Given the description of an element on the screen output the (x, y) to click on. 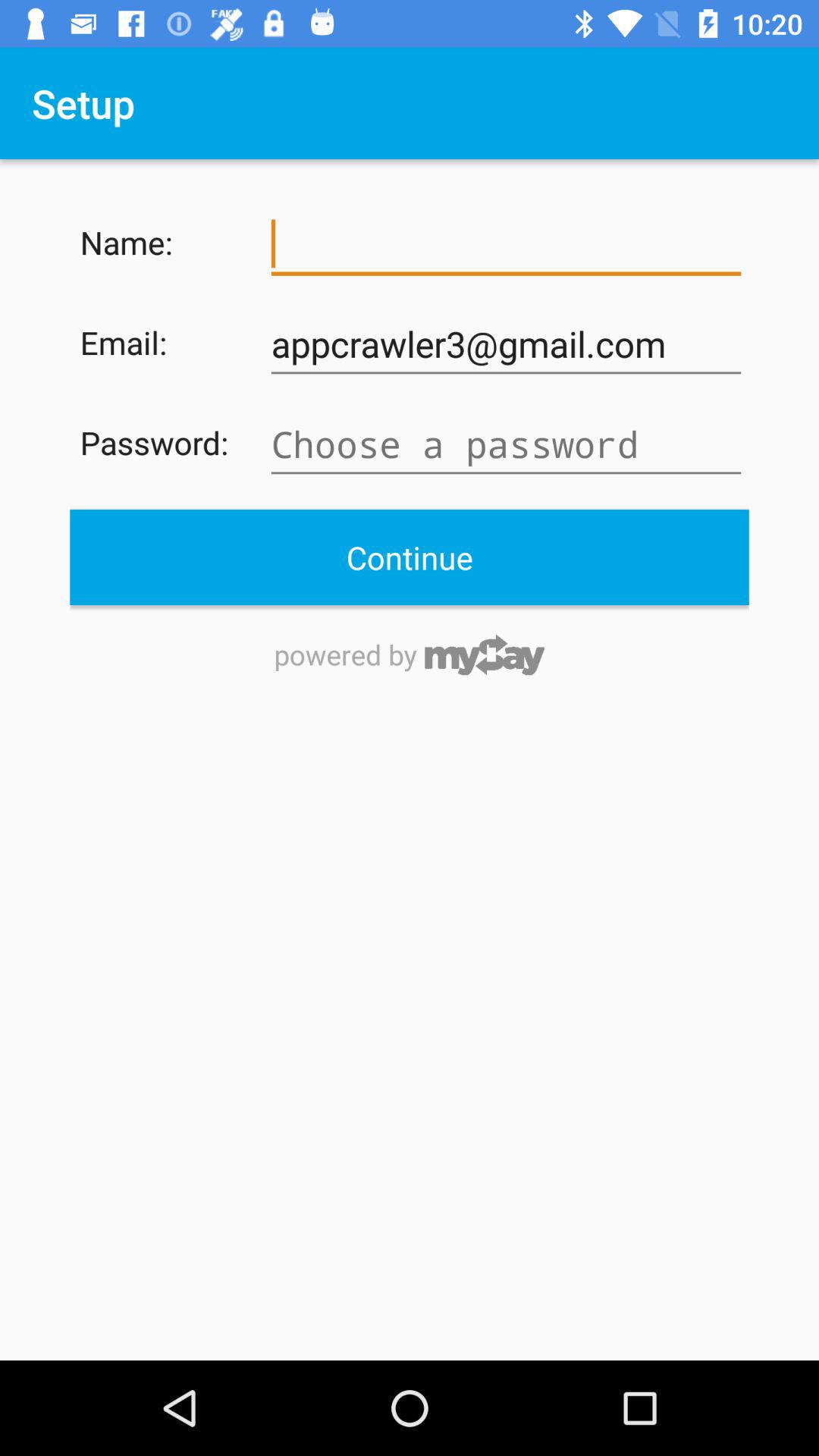
turn on the icon next to password: (506, 444)
